Given the description of an element on the screen output the (x, y) to click on. 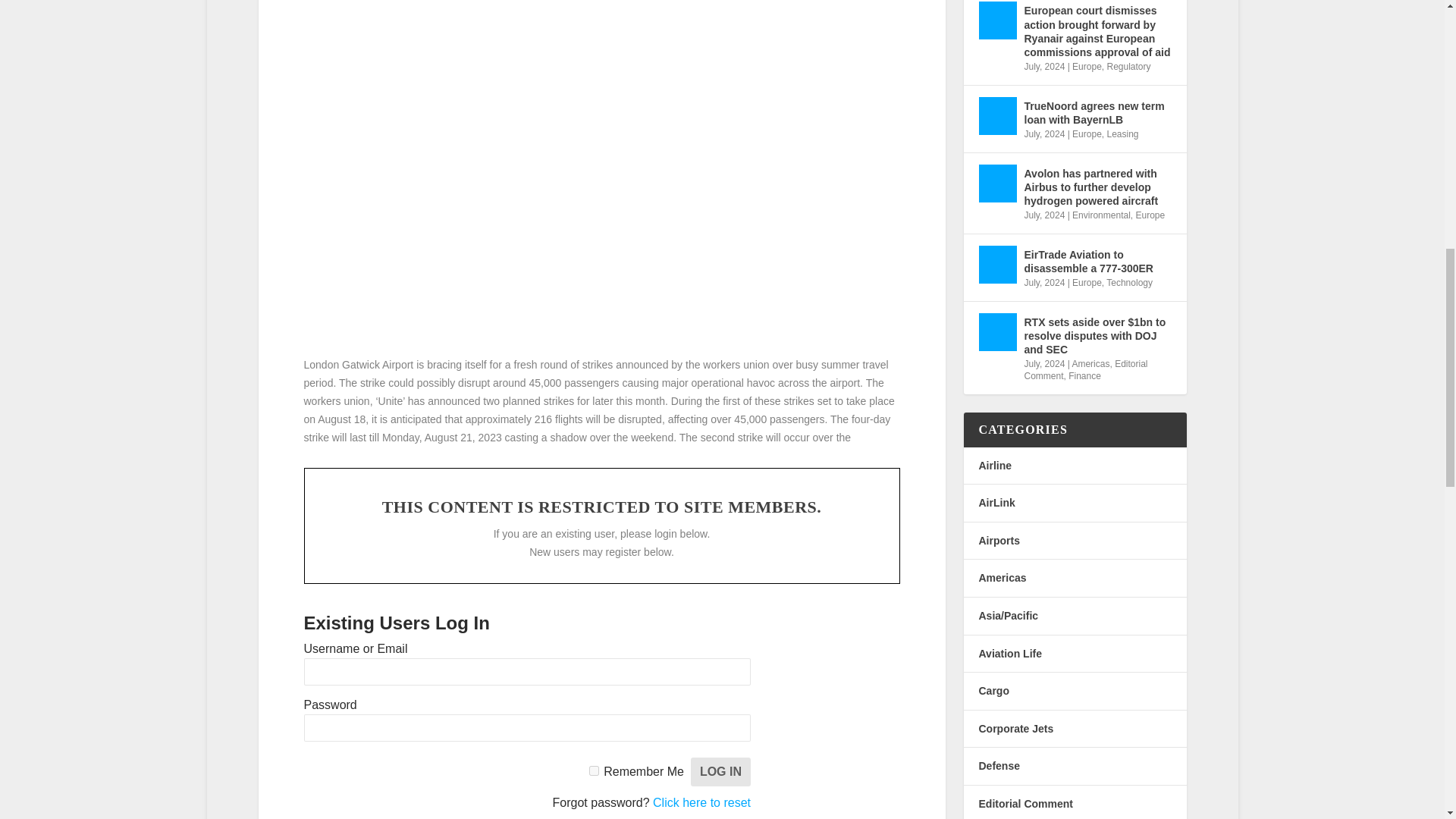
TrueNoord agrees new term loan with BayernLB (997, 116)
Log In (720, 771)
forever (593, 770)
EirTrade Aviation to disassemble a 777-300ER (997, 264)
